Given the description of an element on the screen output the (x, y) to click on. 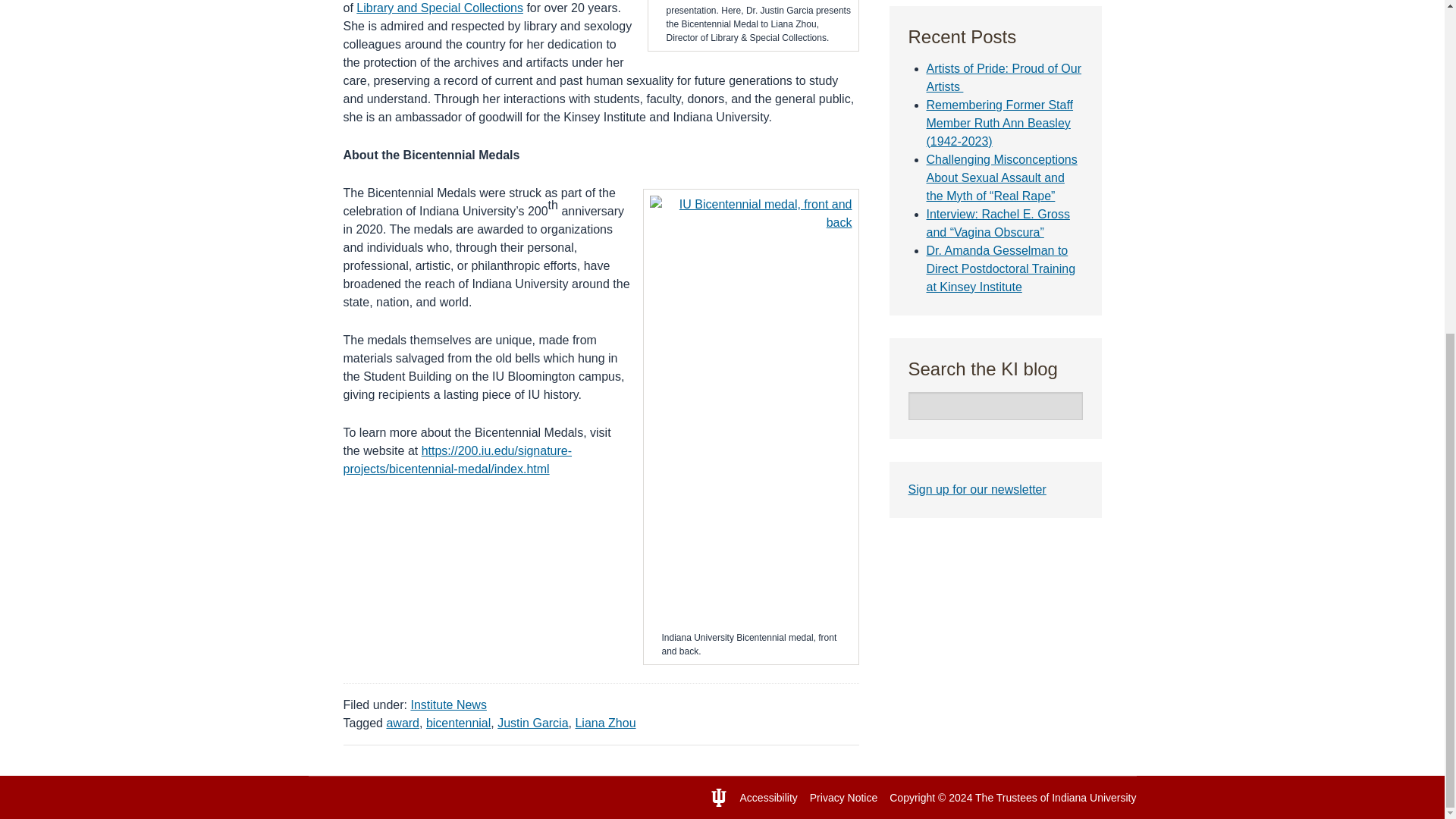
Privacy Notice (843, 797)
Indiana University (1093, 797)
Library and Special Collections (439, 7)
Copyright (911, 797)
Institute News (448, 704)
Justin Garcia (532, 722)
Accessibility (768, 797)
bicentennial (458, 722)
Sign up for our newsletter (977, 489)
award (402, 722)
Artists of Pride: Proud of Our Artists  (1003, 77)
Liana Zhou (604, 722)
